Given the description of an element on the screen output the (x, y) to click on. 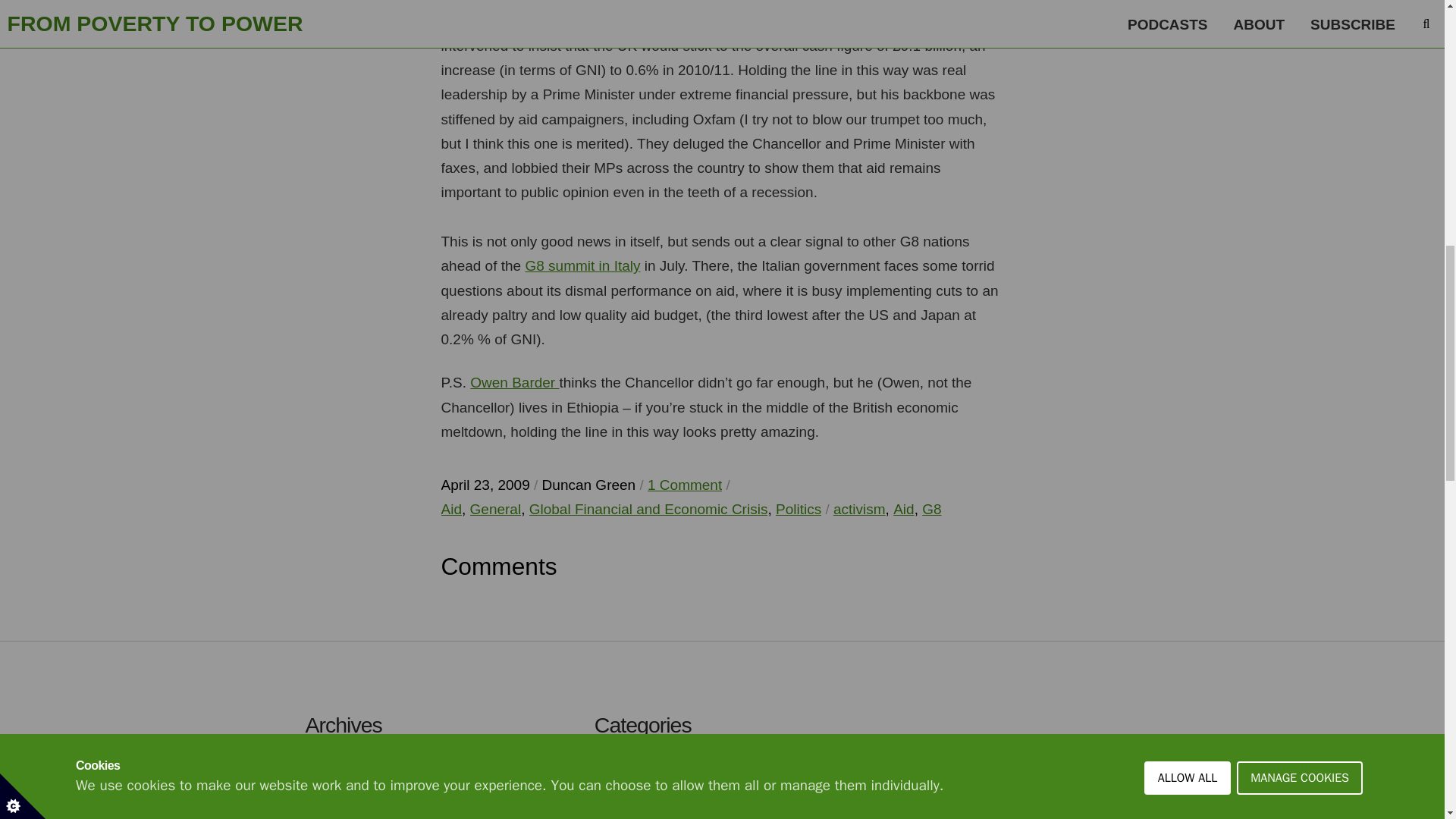
2024 (333, 765)
2023 (333, 806)
Politics (798, 508)
MANAGE COOKIES (1299, 2)
G8 summit in Italy (582, 265)
Owen Barder (514, 382)
ALLOW ALL (1187, 12)
activism (858, 508)
1 Comment (684, 484)
General (495, 508)
